Given the description of an element on the screen output the (x, y) to click on. 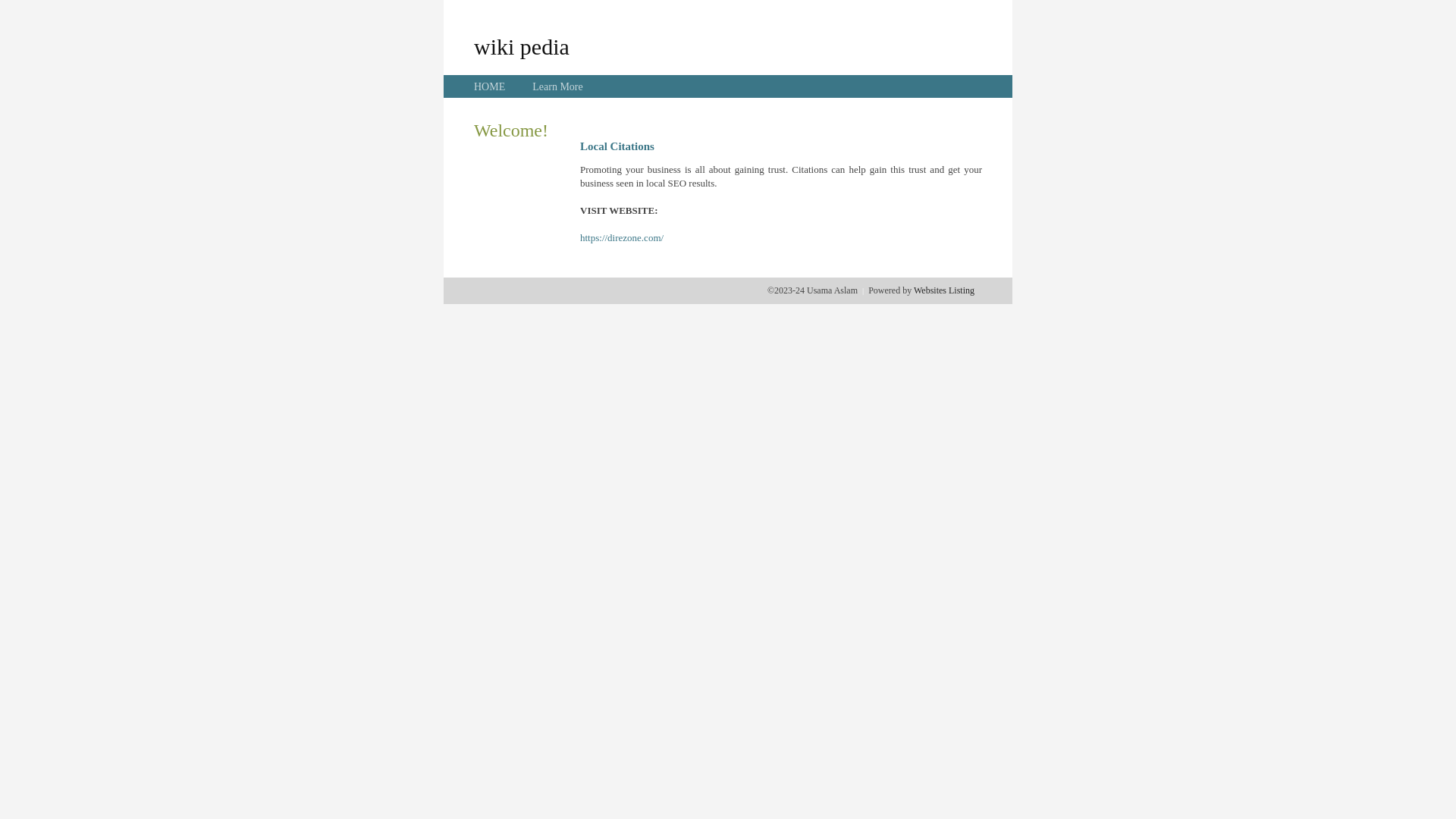
HOME Element type: text (489, 86)
https://direzone.com/ Element type: text (621, 237)
Websites Listing Element type: text (943, 290)
wiki pedia Element type: text (521, 46)
Learn More Element type: text (557, 86)
